Given the description of an element on the screen output the (x, y) to click on. 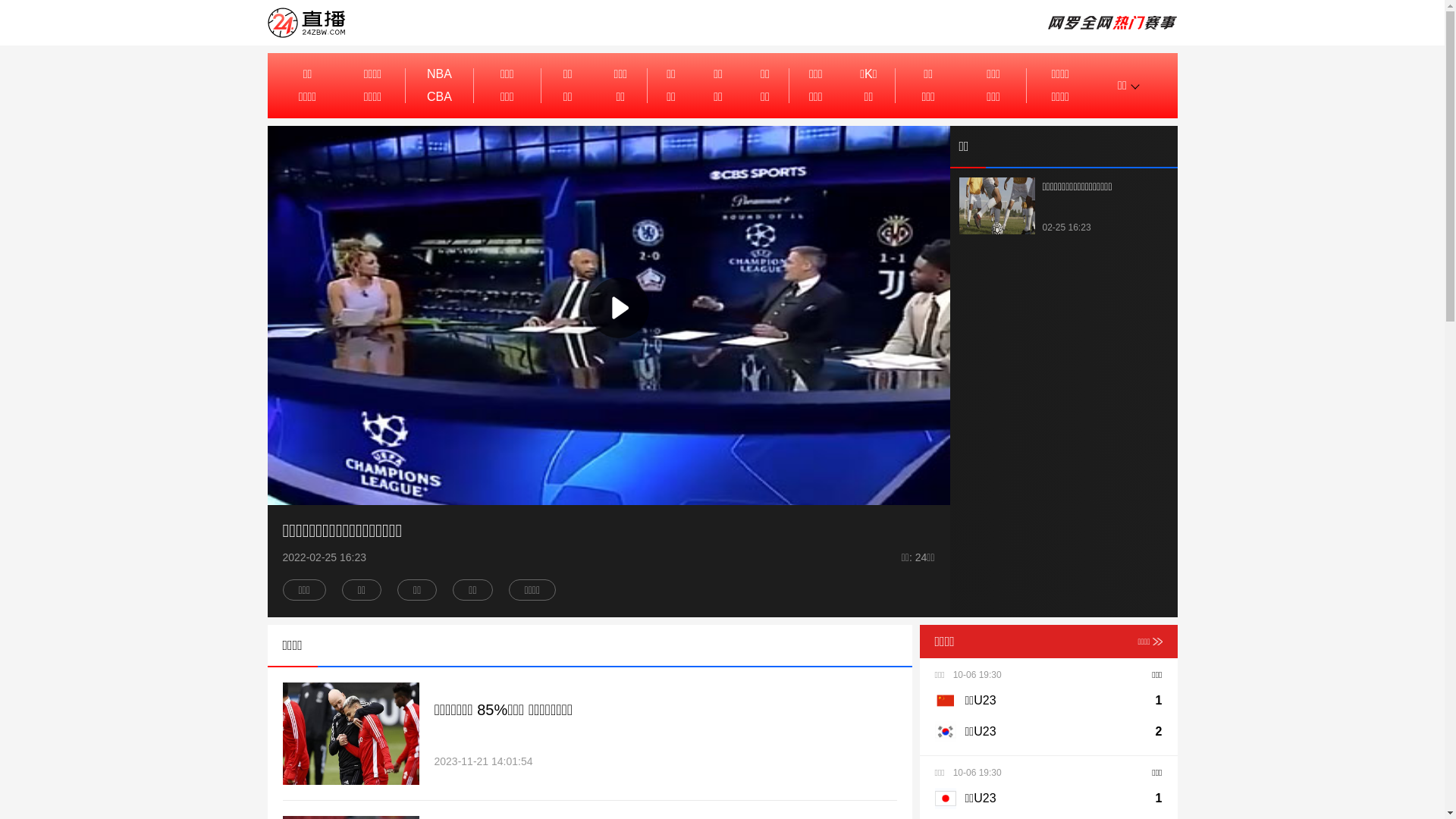
CBA Element type: text (438, 96)
NBA Element type: text (438, 73)
